Given the description of an element on the screen output the (x, y) to click on. 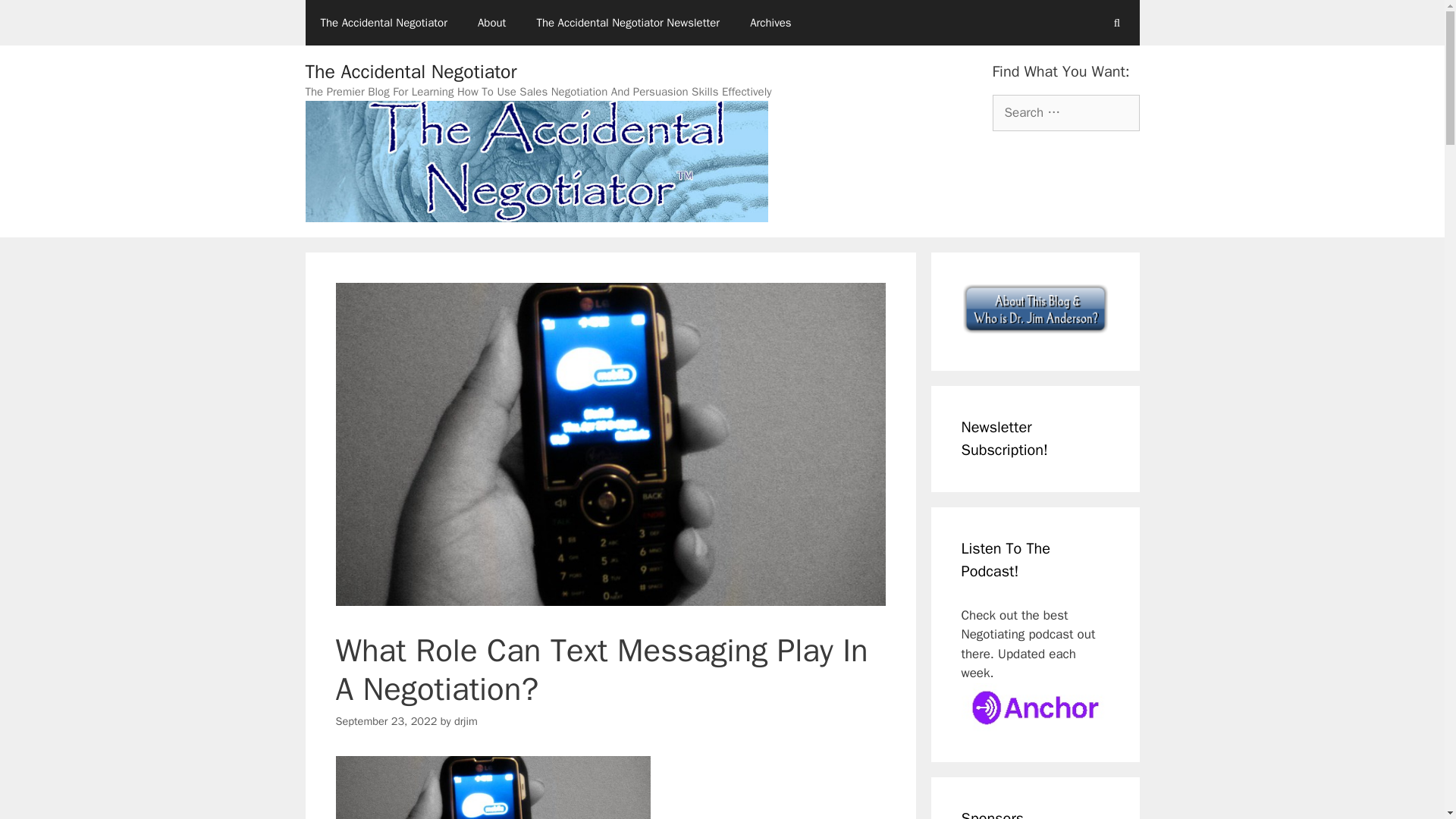
The Accidental Negotiator (382, 22)
The Accidental Negotiator (410, 71)
drjim (465, 721)
Archives (770, 22)
View all posts by drjim (465, 721)
Search for: (1064, 113)
Search (35, 18)
About (492, 22)
The Accidental Negotiator Newsletter (628, 22)
